Given the description of an element on the screen output the (x, y) to click on. 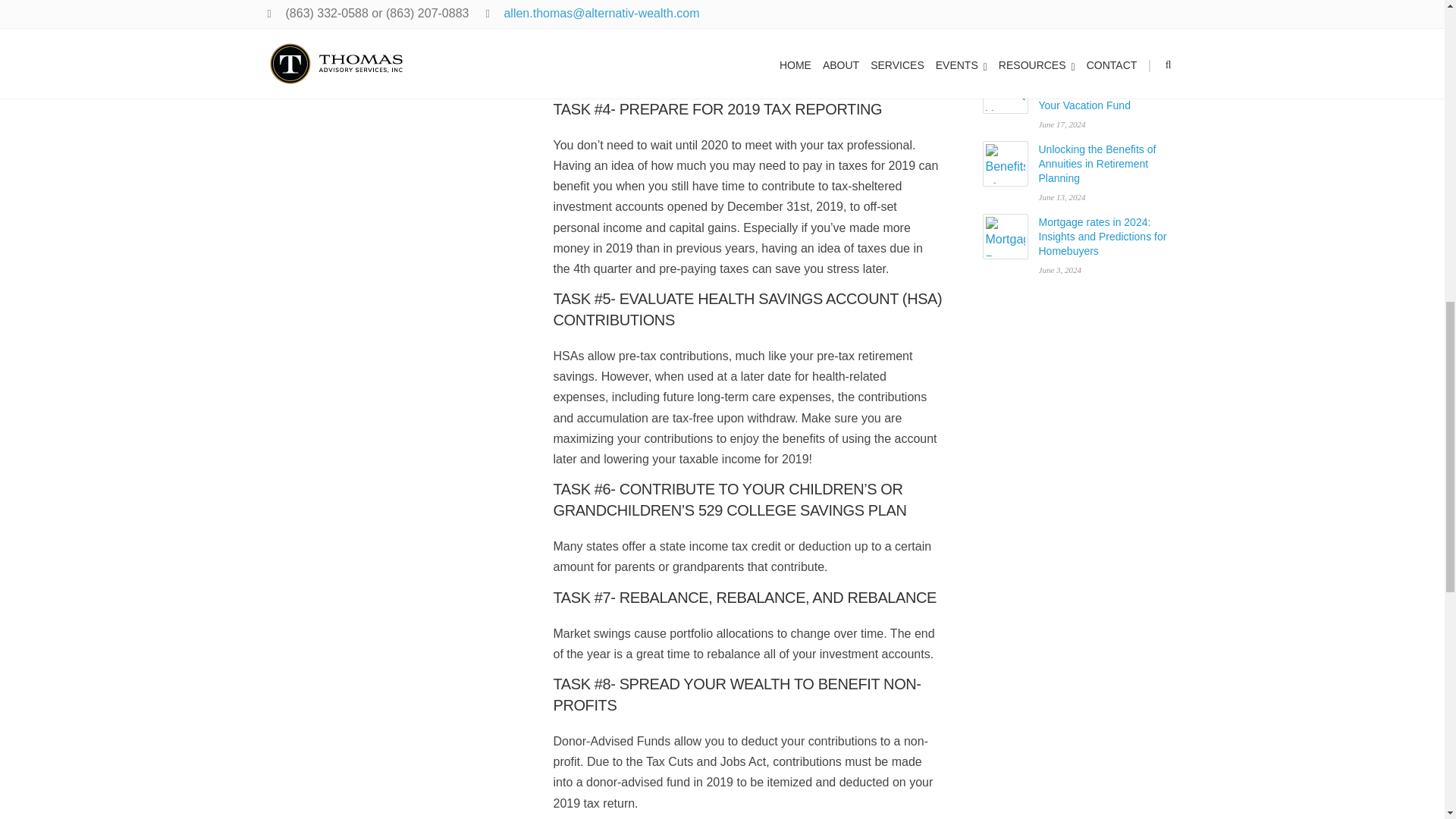
Critical IRS Update: Understanding 2025 Revenue Proposals (1004, 20)
